Given the description of an element on the screen output the (x, y) to click on. 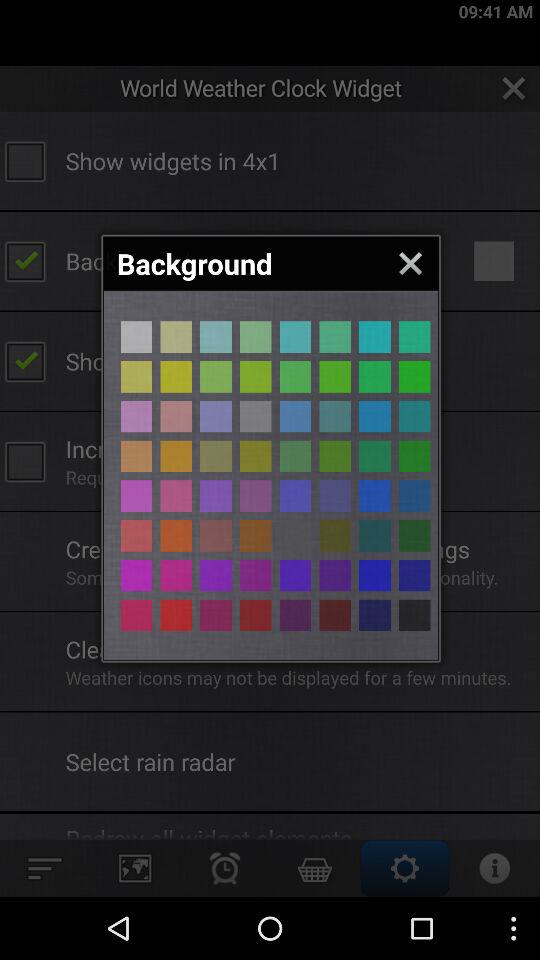
select background colour (215, 416)
